Given the description of an element on the screen output the (x, y) to click on. 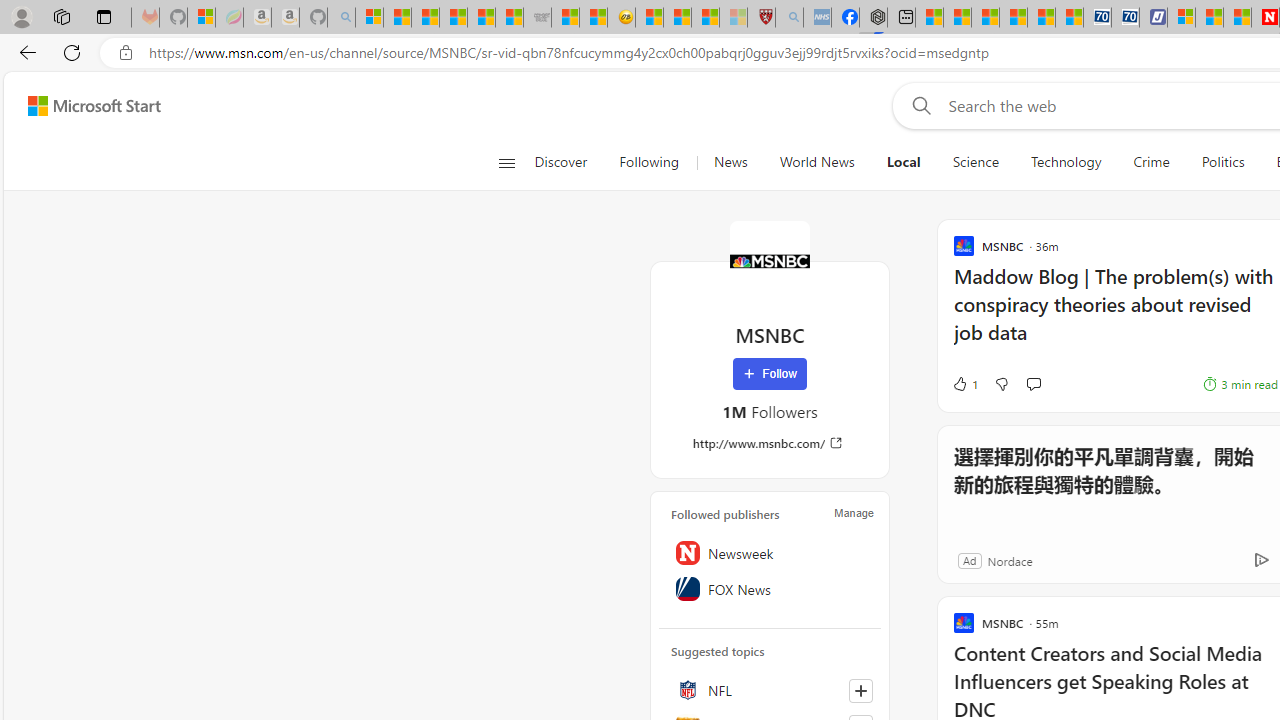
12 Popular Science Lies that Must be Corrected - Sleeping (733, 17)
The Weather Channel - MSN (425, 17)
Recipes - MSN (649, 17)
Follow this topic (860, 690)
Robert H. Shmerling, MD - Harvard Health (760, 17)
